Given the description of an element on the screen output the (x, y) to click on. 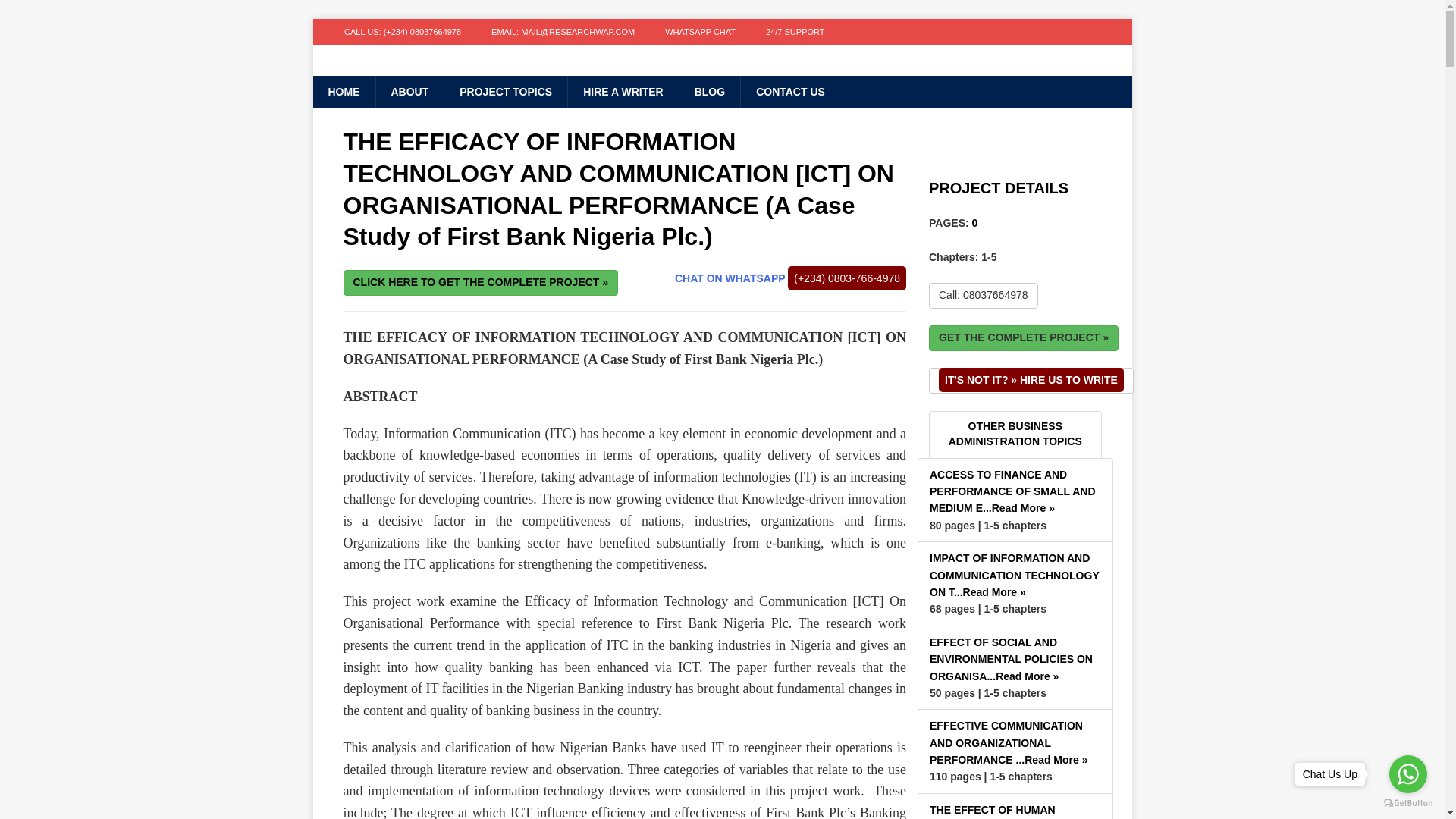
CONTACT US (789, 91)
PROJECT TOPICS (505, 91)
HOME (343, 91)
ABOUT (409, 91)
WHATSAPP CHAT (700, 31)
HIRE A WRITER (622, 91)
Call: 08037664978 (983, 295)
BLOG (708, 91)
OTHER BUSINESS ADMINISTRATION TOPICS (1015, 434)
